Given the description of an element on the screen output the (x, y) to click on. 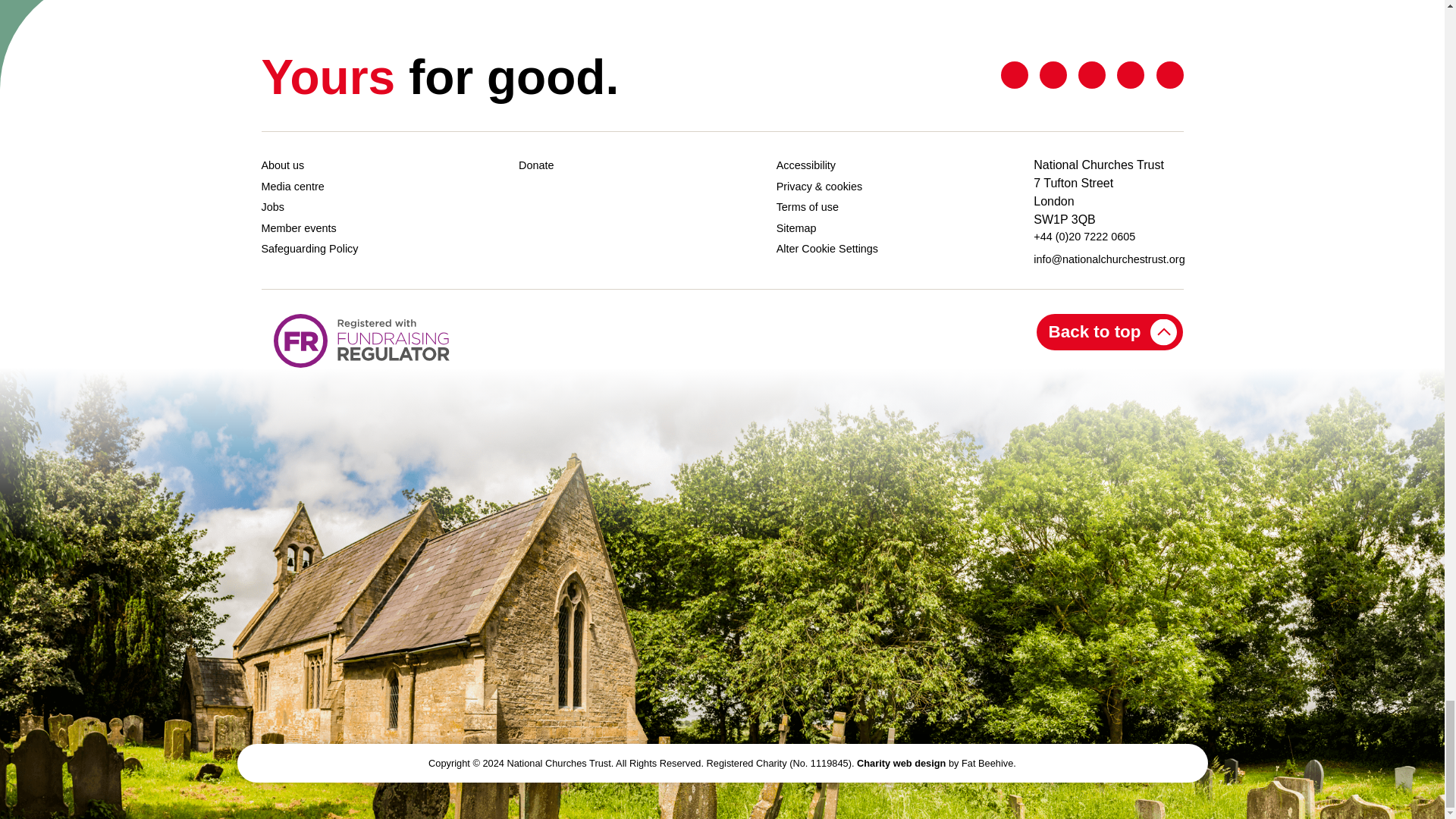
Twitter (1014, 75)
Facebook (1052, 75)
Youtube (1130, 75)
Instagram (1168, 75)
Linkedin (1091, 75)
